Given the description of an element on the screen output the (x, y) to click on. 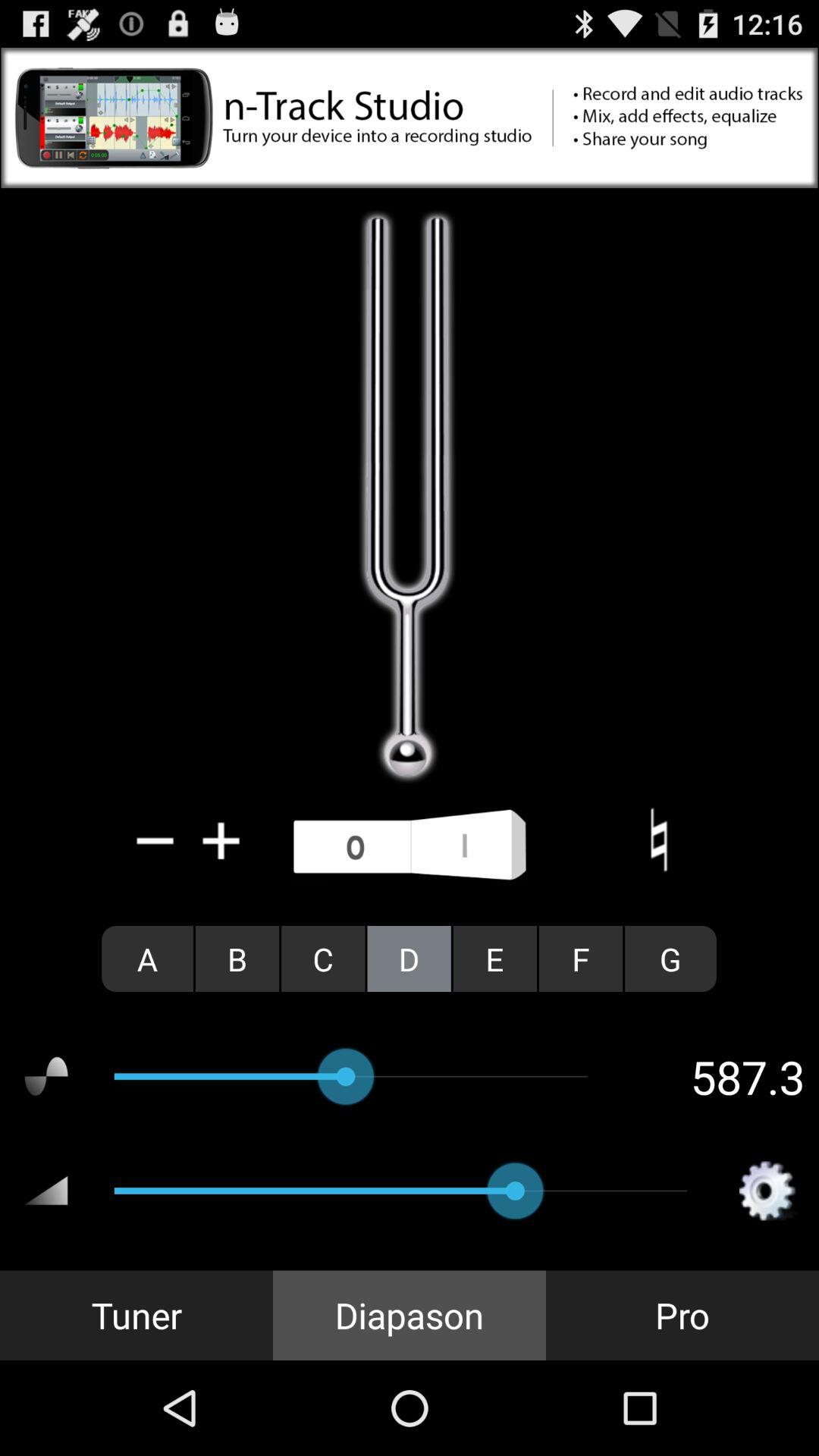
advertisement (409, 117)
